Given the description of an element on the screen output the (x, y) to click on. 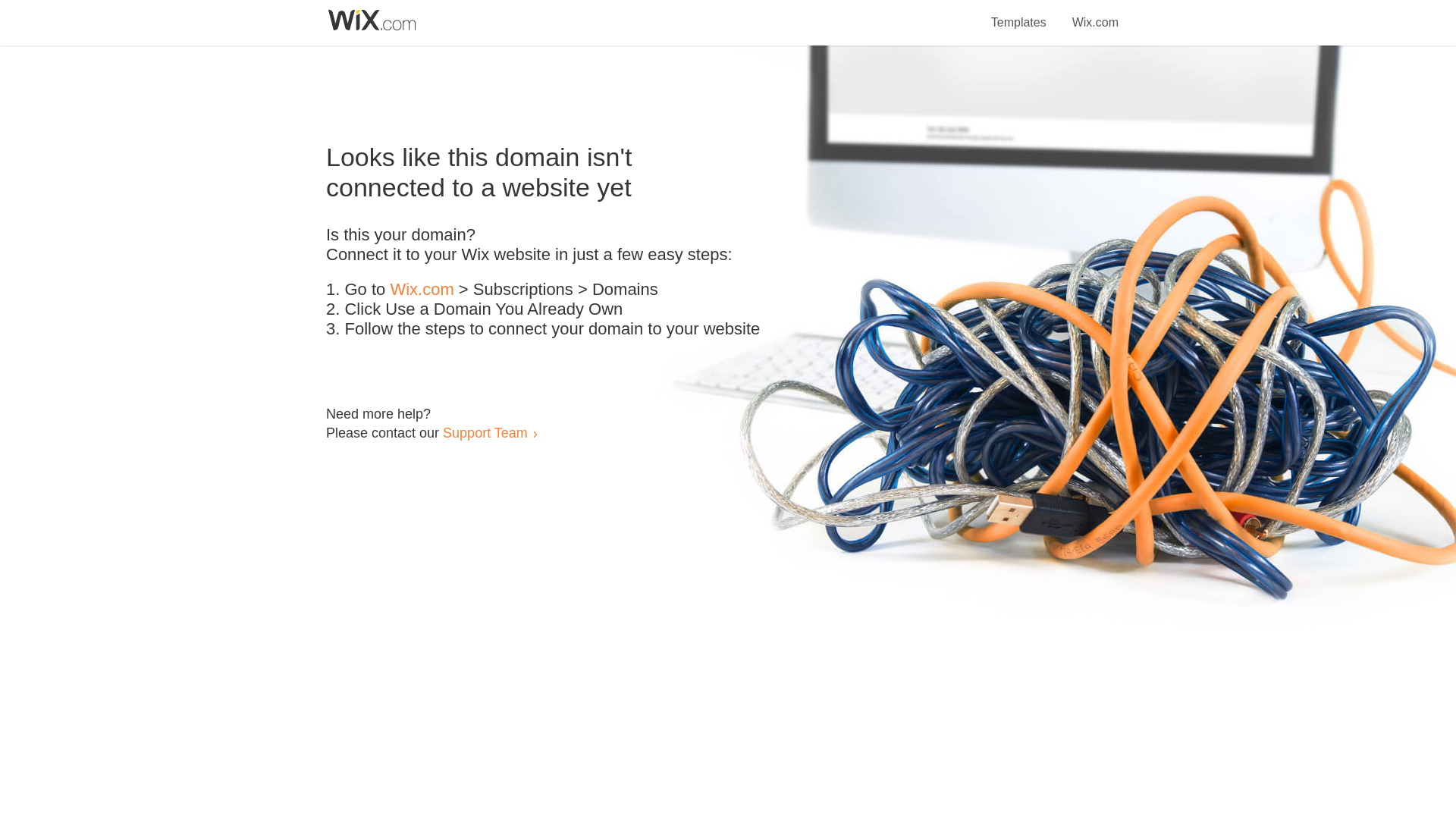
Wix.com (421, 289)
Support Team (484, 432)
Wix.com (1095, 14)
Templates (1018, 14)
